Given the description of an element on the screen output the (x, y) to click on. 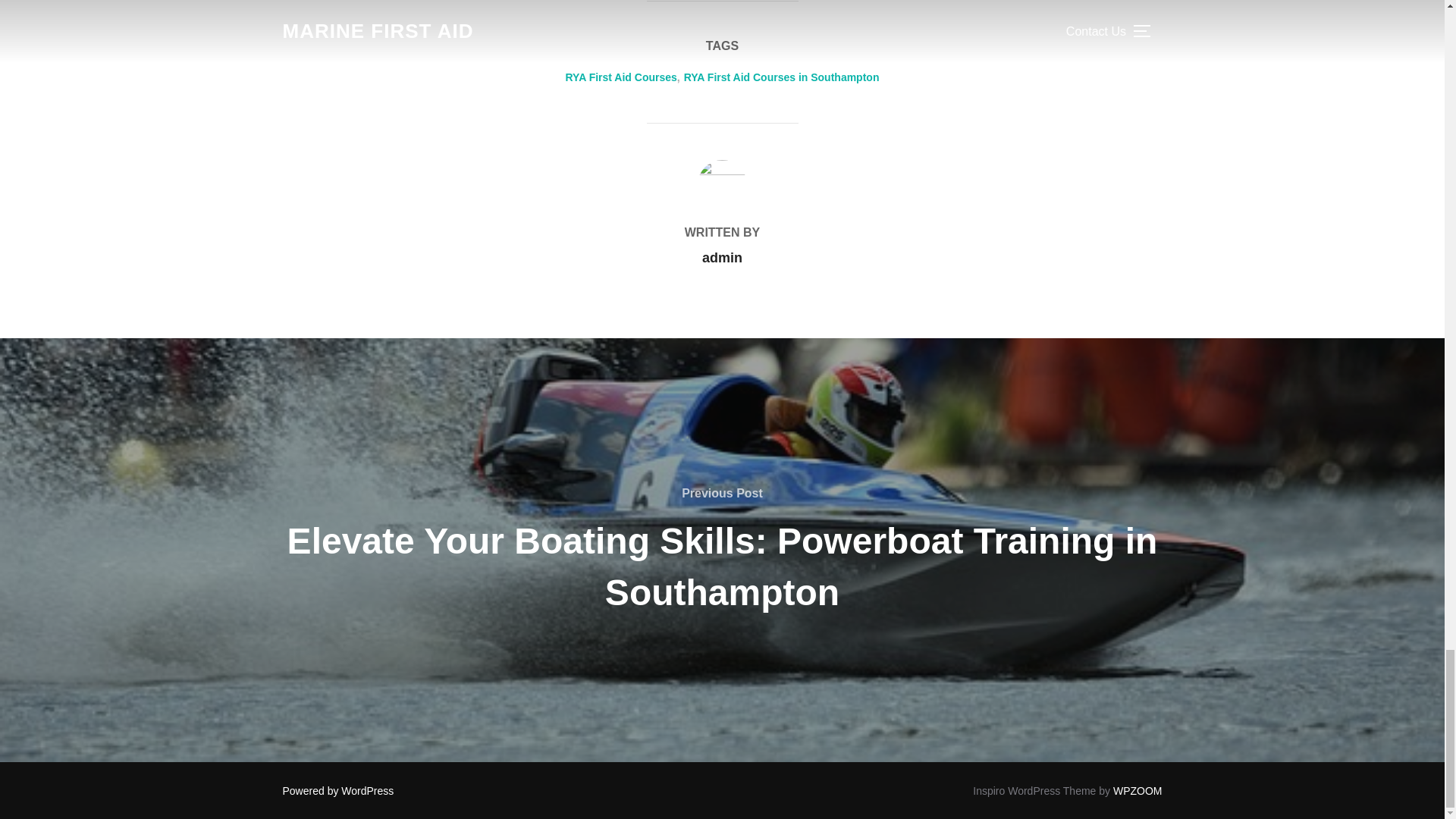
RYA First Aid Courses (621, 77)
WPZOOM (1137, 790)
RYA First Aid Courses in Southampton (781, 77)
Posts by admin (721, 257)
admin (721, 257)
Powered by WordPress (337, 790)
